Given the description of an element on the screen output the (x, y) to click on. 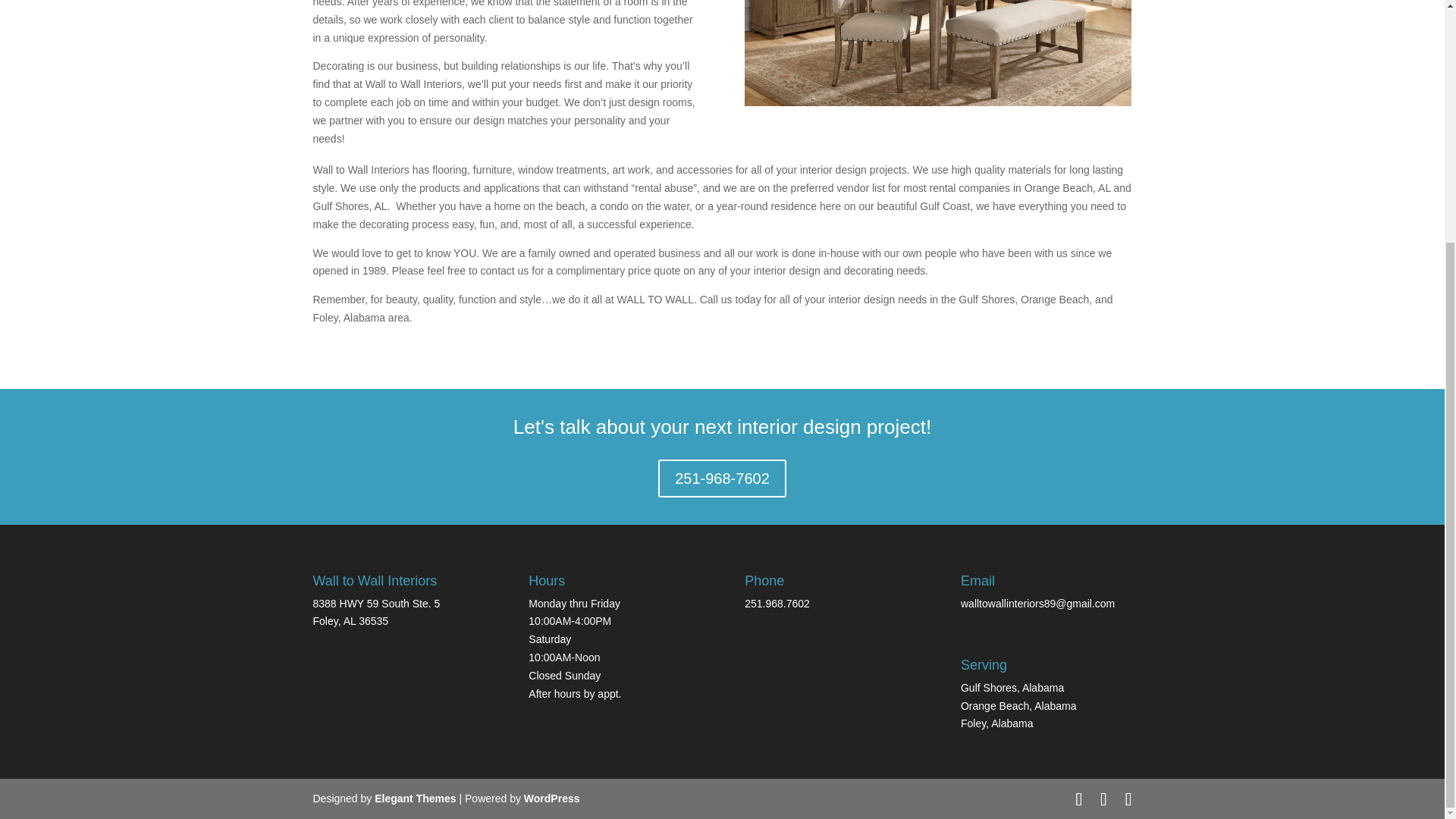
Interior Design Gulf Shores Alabama (937, 53)
Premium WordPress Themes (414, 798)
